Given the description of an element on the screen output the (x, y) to click on. 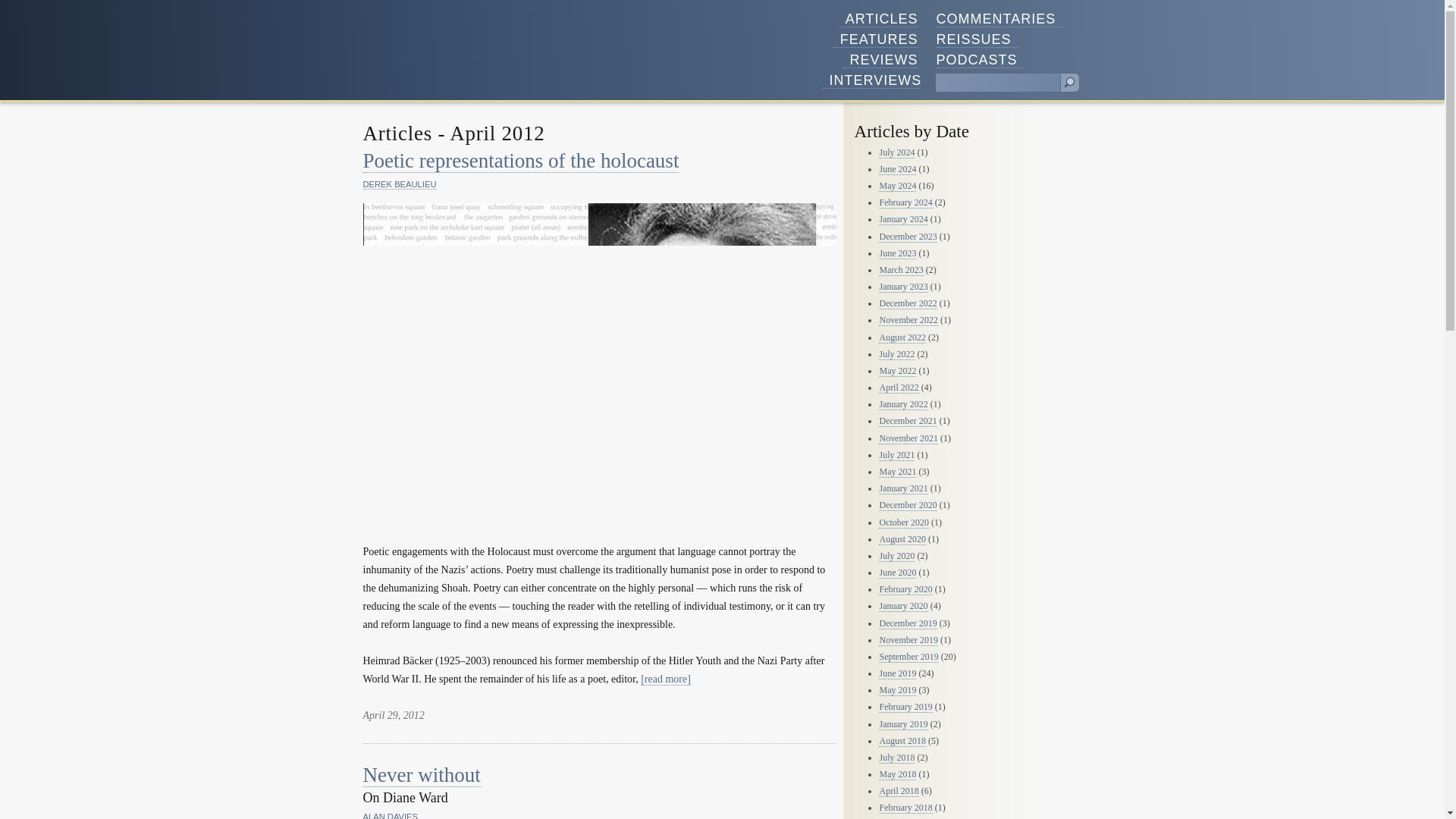
October 2020 (903, 522)
REISSUES (976, 39)
December 2022 (907, 303)
Poetic representations of the holocaust (520, 160)
Home (429, 58)
ALAN DAVIES (389, 815)
Commentaries (999, 19)
December 2021 (907, 420)
PODCASTS (979, 59)
July 2022 (896, 354)
Never without (421, 775)
July 2024 (896, 152)
COMMENTARIES (999, 19)
April 2022 (898, 387)
Reviews (880, 59)
